Given the description of an element on the screen output the (x, y) to click on. 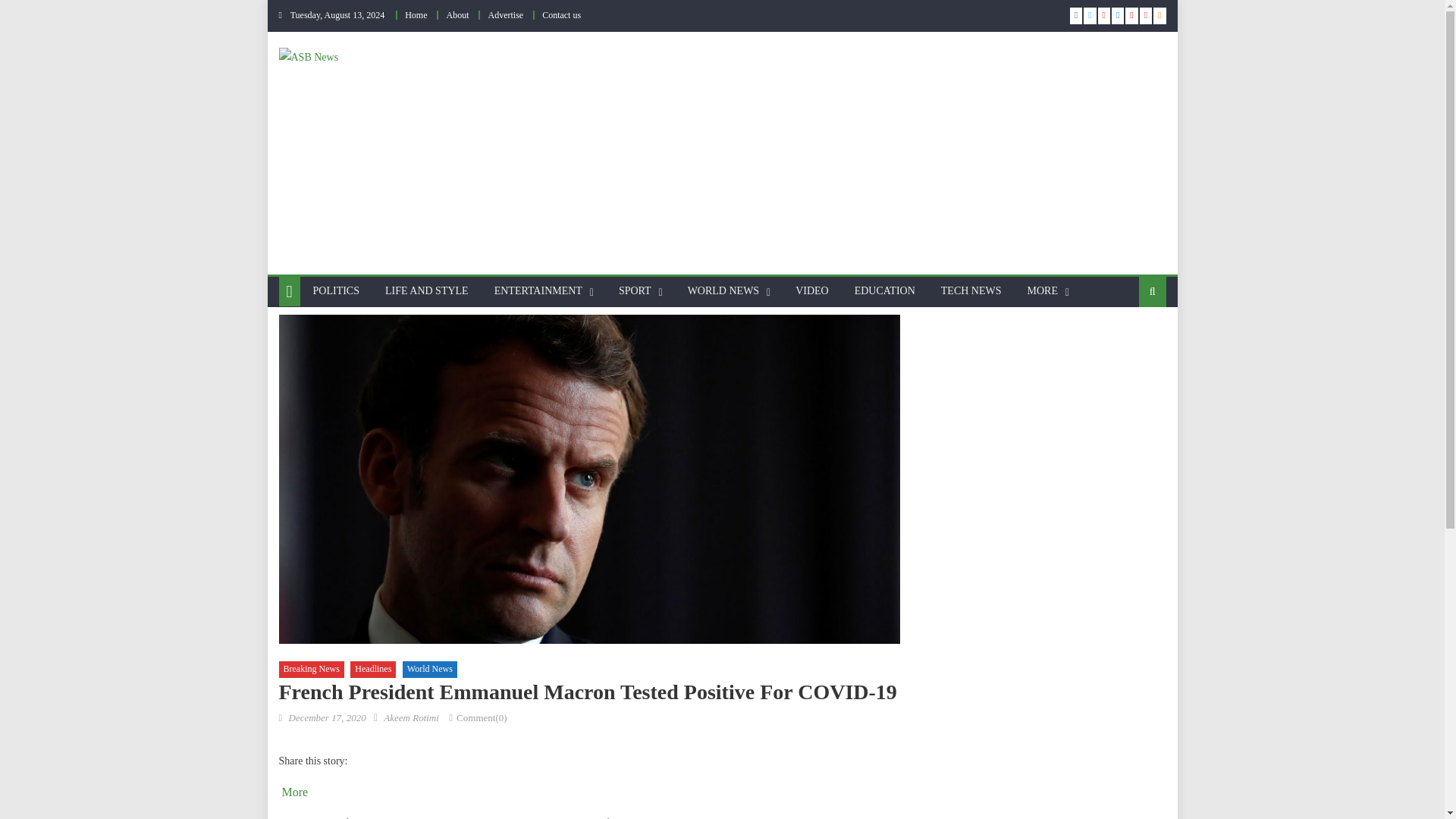
Contact us (560, 14)
December 17, 2020 (326, 717)
ENTERTAINMENT (538, 290)
Home (415, 14)
Akeem Rotimi (411, 717)
WORLD NEWS (724, 290)
Advertise (504, 14)
Breaking News (311, 669)
World News (430, 669)
MORE (1042, 290)
